Given the description of an element on the screen output the (x, y) to click on. 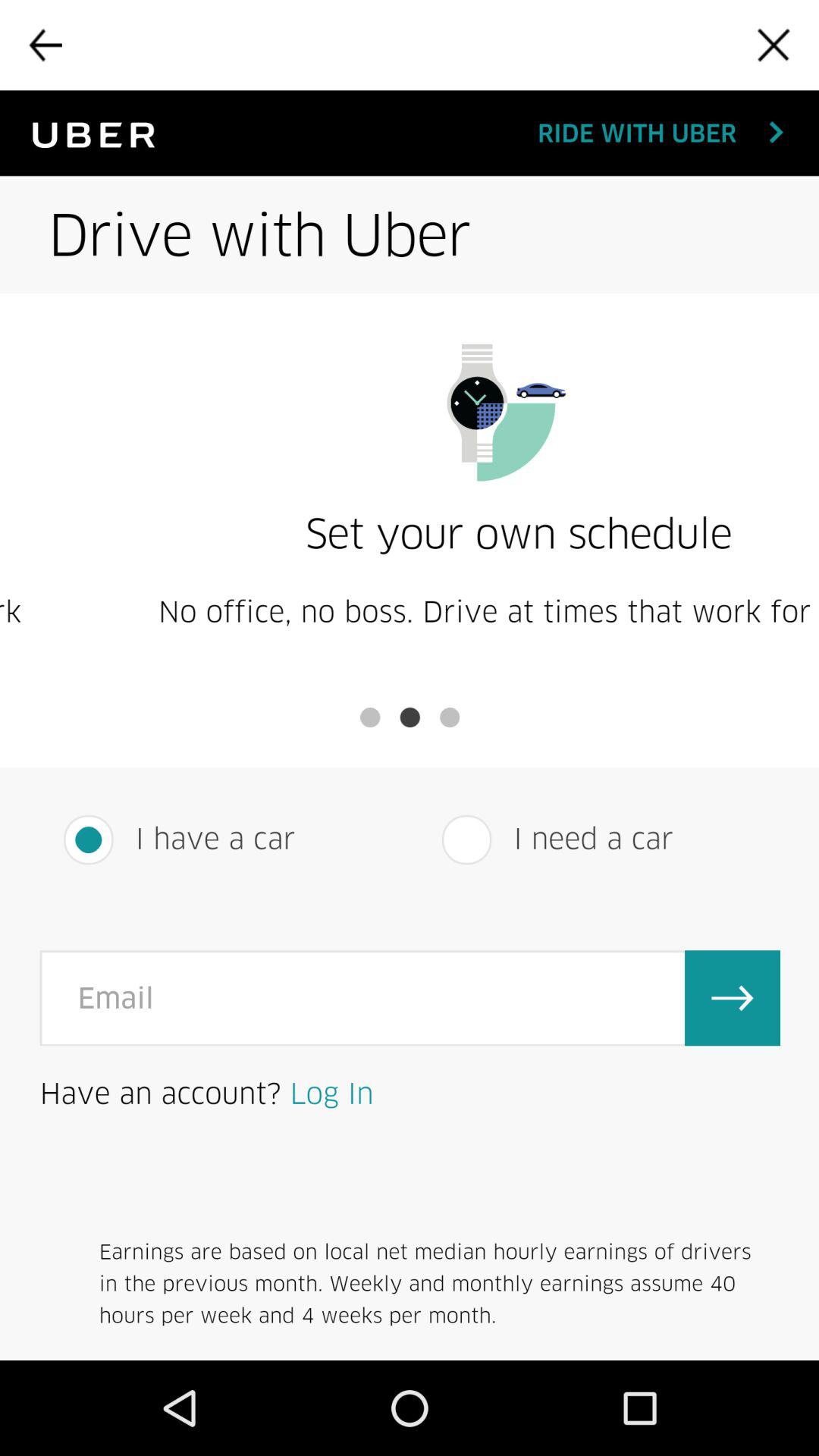
close the screen (773, 45)
